Given the description of an element on the screen output the (x, y) to click on. 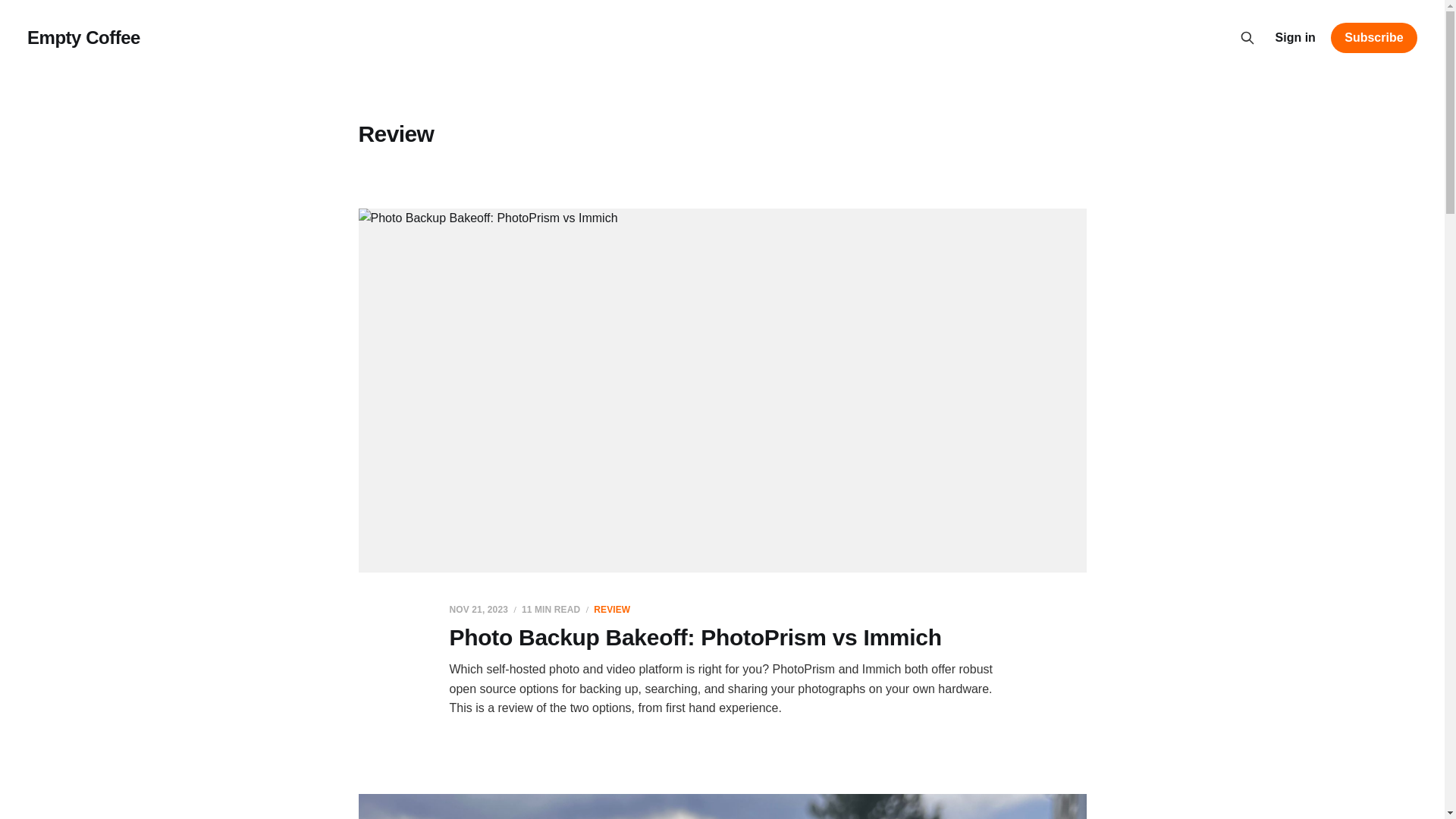
REVIEW (612, 608)
Photo Backup Bakeoff: PhotoPrism vs Immich (694, 637)
Subscribe (1373, 37)
Empty Coffee (83, 37)
Review (612, 608)
Sign in (1295, 37)
